Given the description of an element on the screen output the (x, y) to click on. 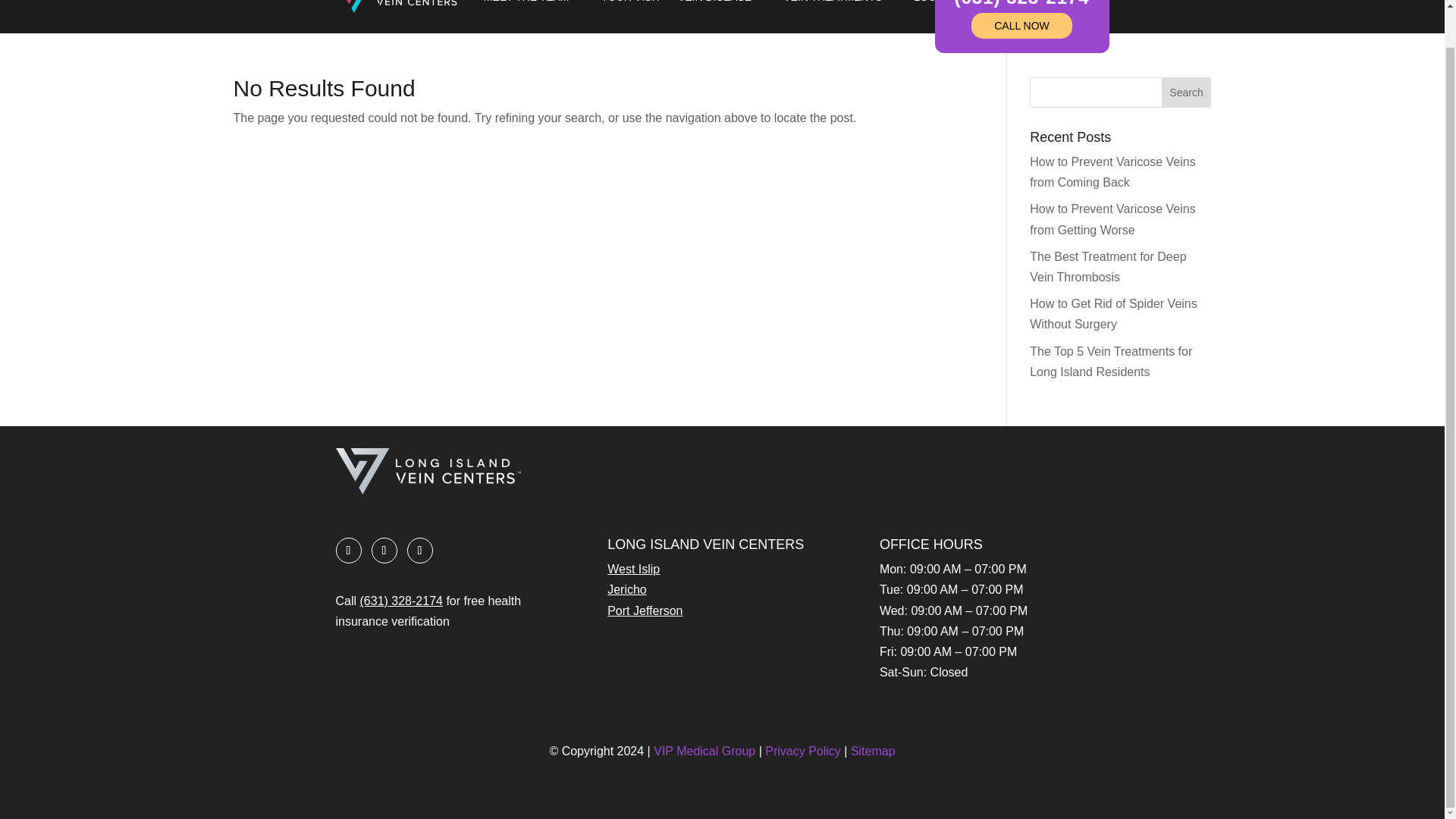
MEET THE TEAM (534, 6)
Follow on Facebook (347, 550)
YOUR VISIT (631, 6)
Follow on google-plus (384, 550)
LOCATIONS (952, 6)
Follow on Youtube (419, 550)
VEIN DISEASE (722, 6)
VEIN TREATMENTS (839, 6)
logo-ligth (426, 470)
Search (1186, 91)
